Given the description of an element on the screen output the (x, y) to click on. 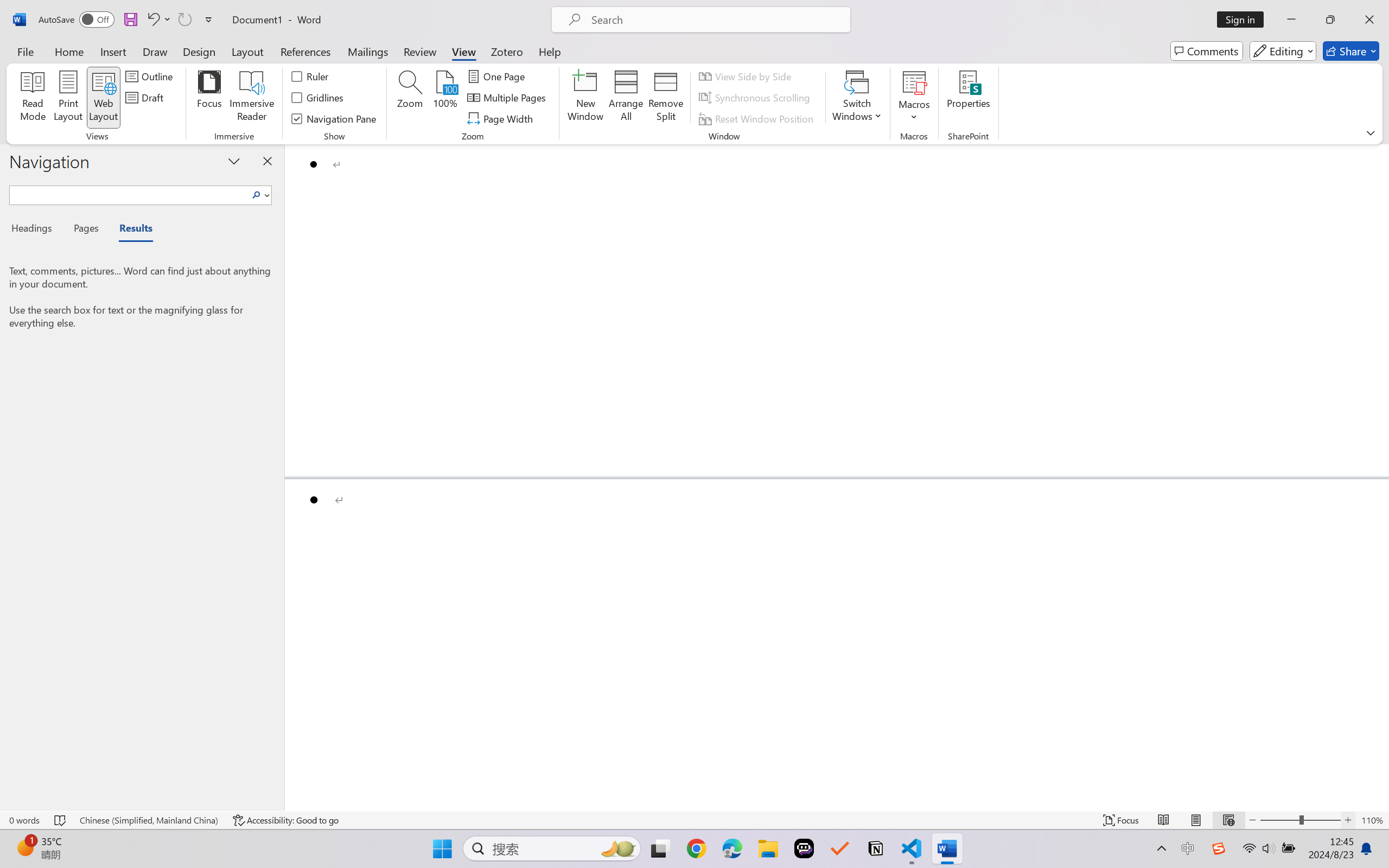
Navigation Pane (334, 118)
Properties (967, 97)
